Given the description of an element on the screen output the (x, y) to click on. 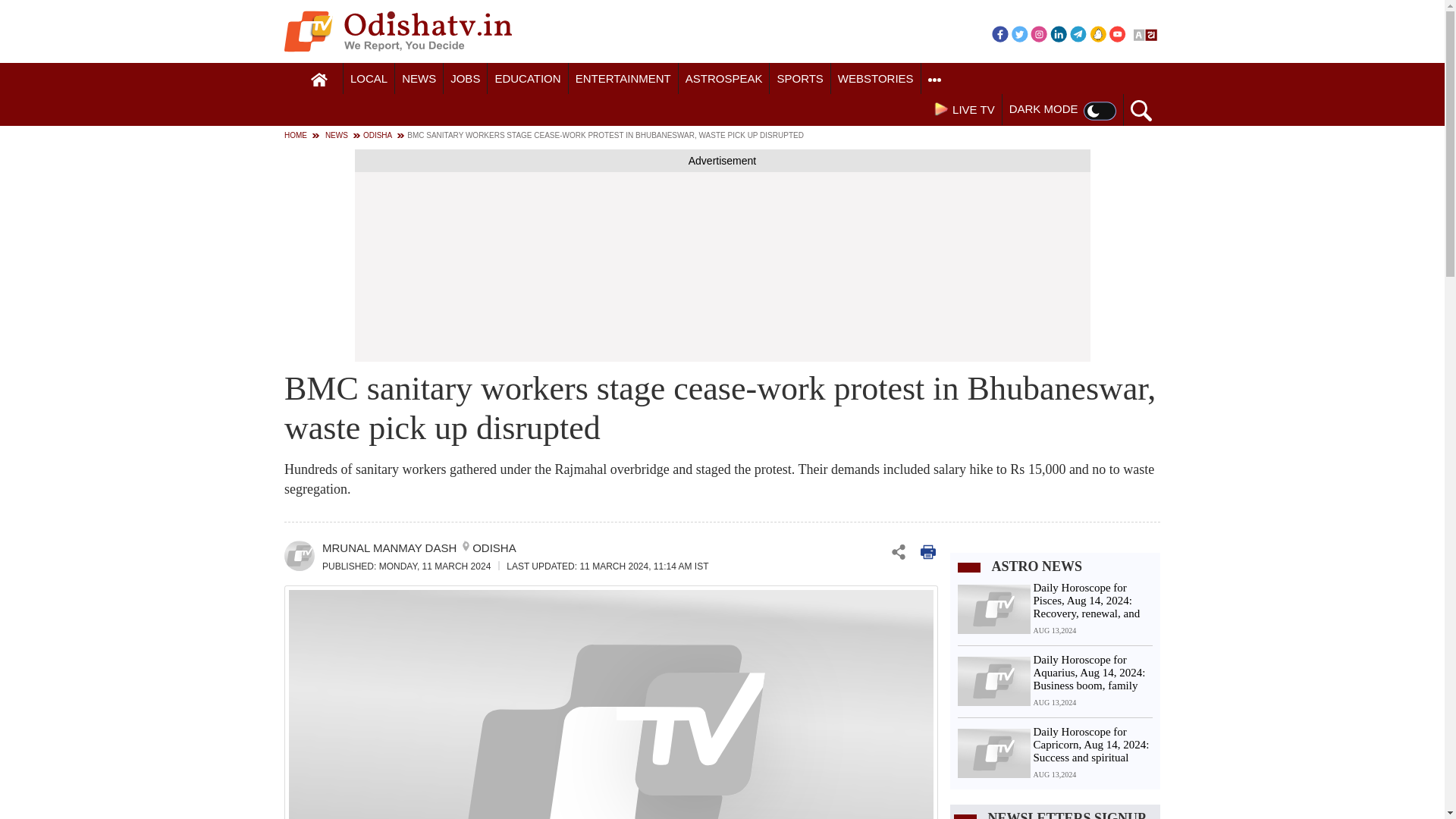
Facebook (1000, 33)
Telegram (1078, 33)
ENTERTAINMENT (623, 78)
OdishaTV (397, 31)
Twitter (1019, 33)
LOCAL (368, 78)
Home Icon (319, 79)
News (418, 78)
Odisha (368, 78)
Instagram (1038, 33)
